Given the description of an element on the screen output the (x, y) to click on. 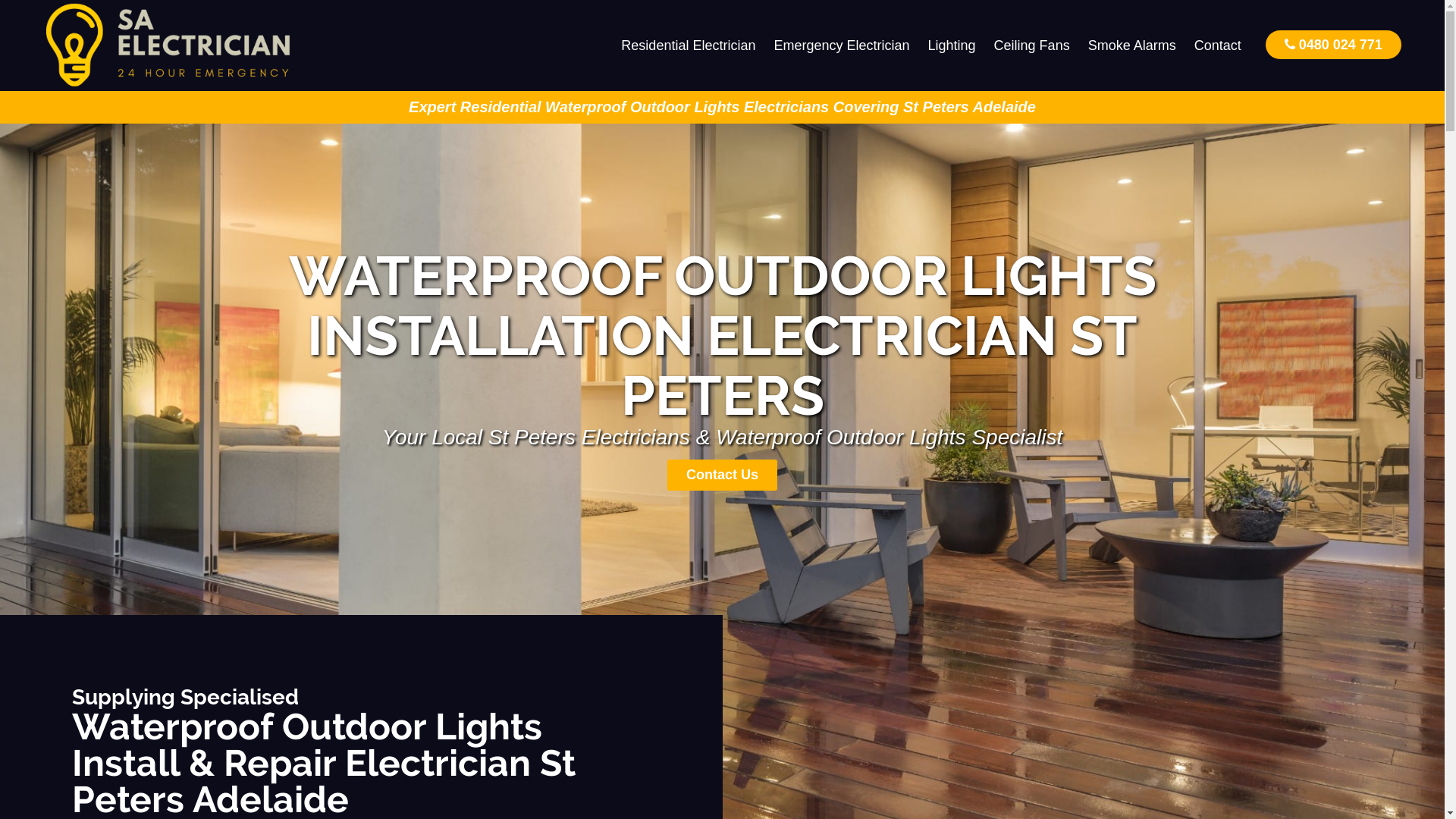
Contact Us Element type: text (722, 474)
Ceiling Fans Element type: text (1032, 45)
Contact Element type: text (1217, 45)
Residential Electrician Element type: text (687, 45)
Emergency Electrician Element type: text (841, 45)
0480 024 771 Element type: text (1333, 44)
Smoke Alarms Element type: text (1132, 45)
Lighting Element type: text (952, 45)
